Given the description of an element on the screen output the (x, y) to click on. 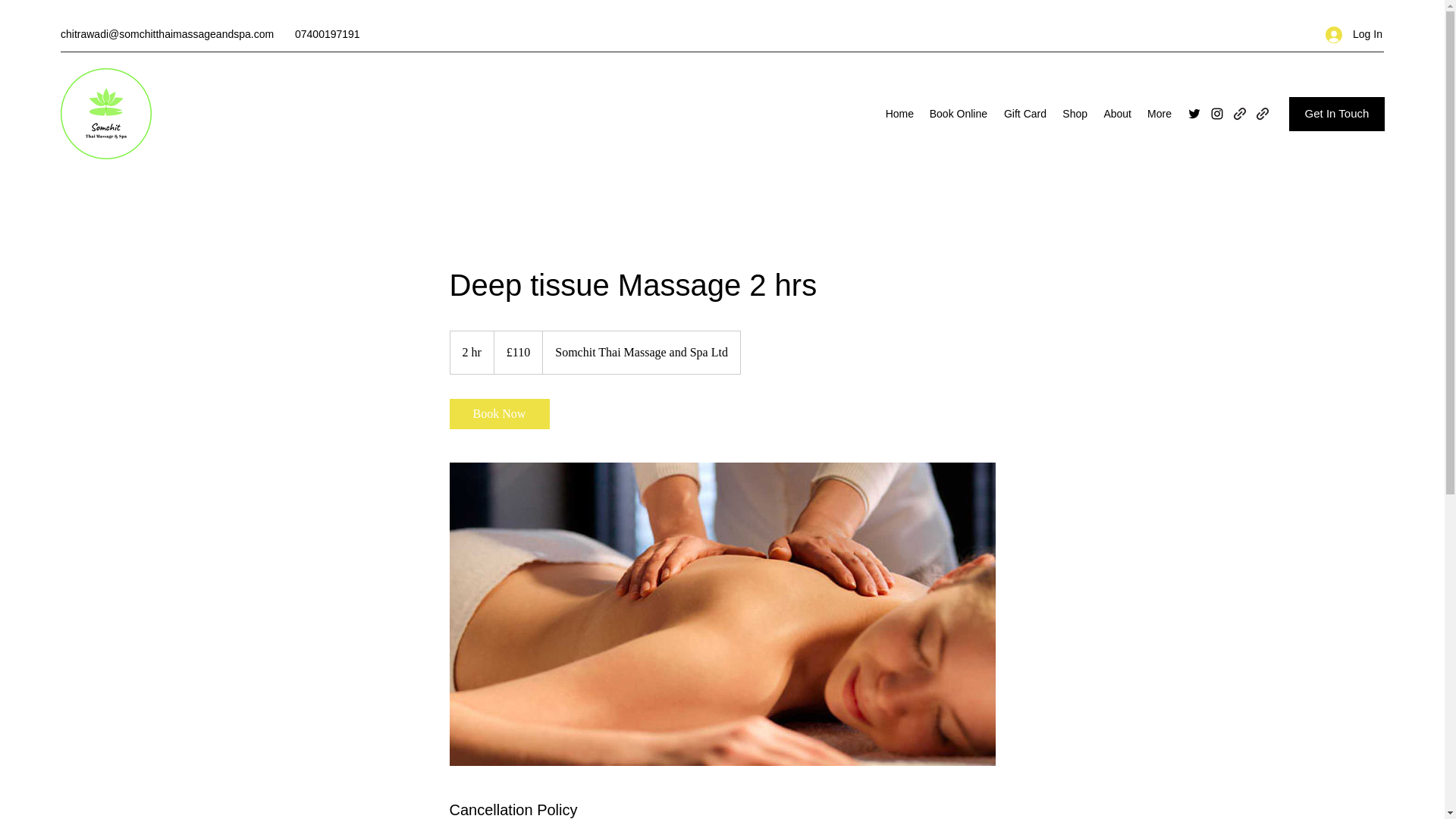
Log In (1348, 34)
Gift Card (1024, 113)
Get In Touch (1336, 114)
Book Online (957, 113)
About (1116, 113)
Home (899, 113)
Book Now (498, 413)
Shop (1074, 113)
